Given the description of an element on the screen output the (x, y) to click on. 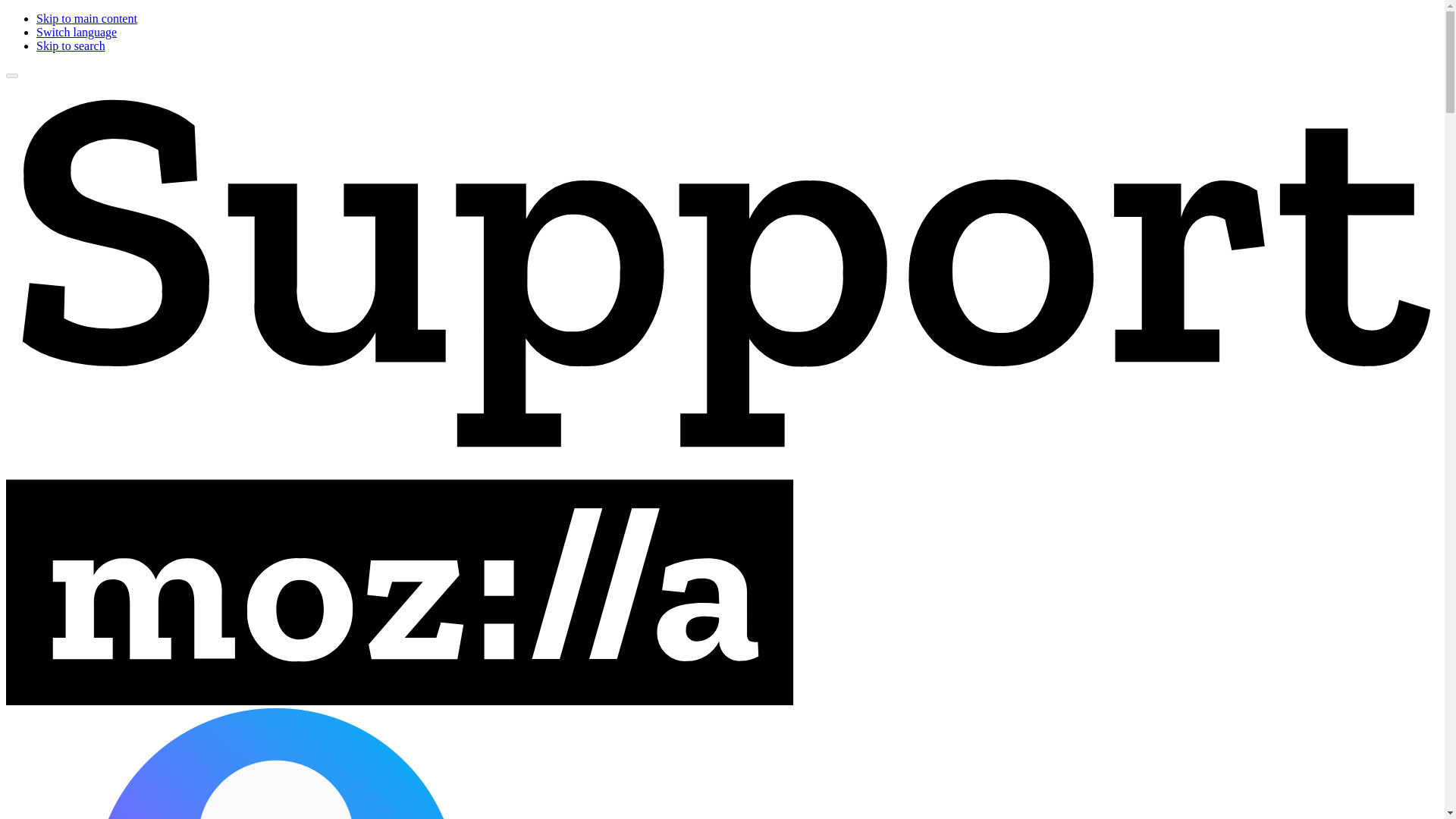
Skip to main content (86, 18)
Skip to search (70, 45)
Switch language (76, 31)
